Given the description of an element on the screen output the (x, y) to click on. 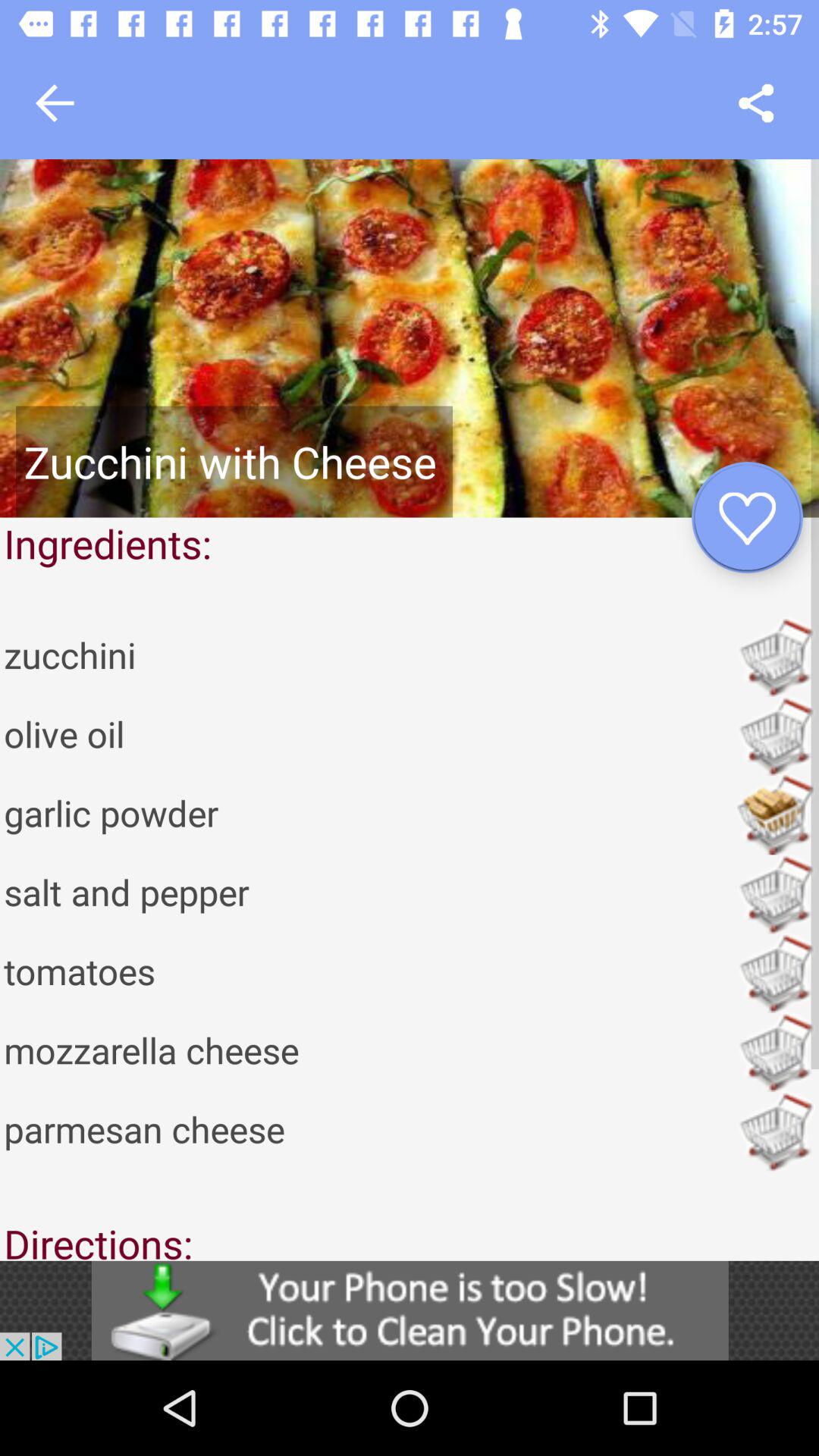
click arrow to go back to previous page (54, 103)
